Given the description of an element on the screen output the (x, y) to click on. 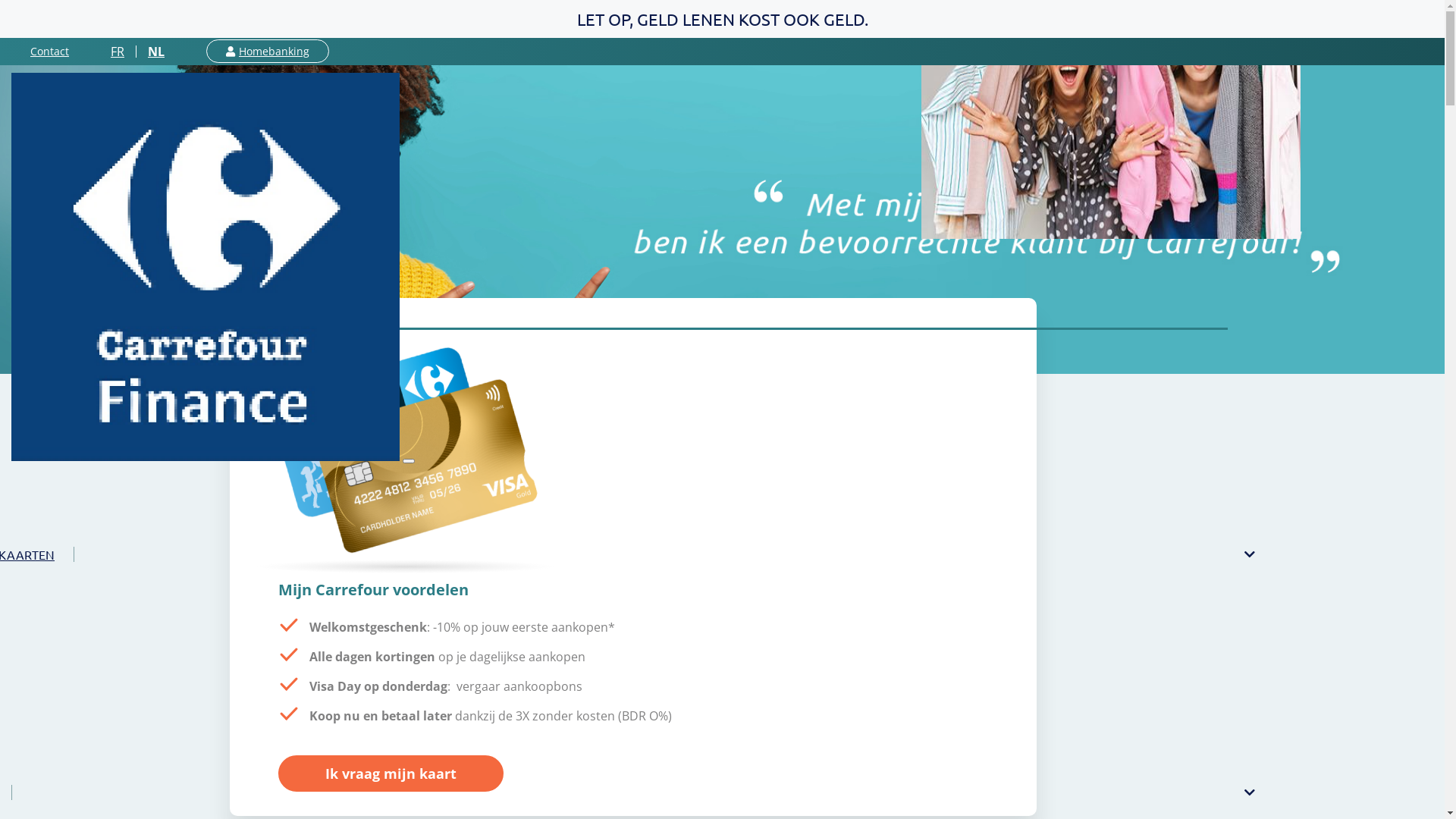
Overslaan en naar de inhoud gaan Element type: text (722, 1)
Homebanking Element type: text (267, 50)
NL Element type: text (155, 51)
Ik vraag mijn kaart Element type: text (390, 773)
FR Element type: text (117, 51)
Contact Element type: text (49, 50)
